Given the description of an element on the screen output the (x, y) to click on. 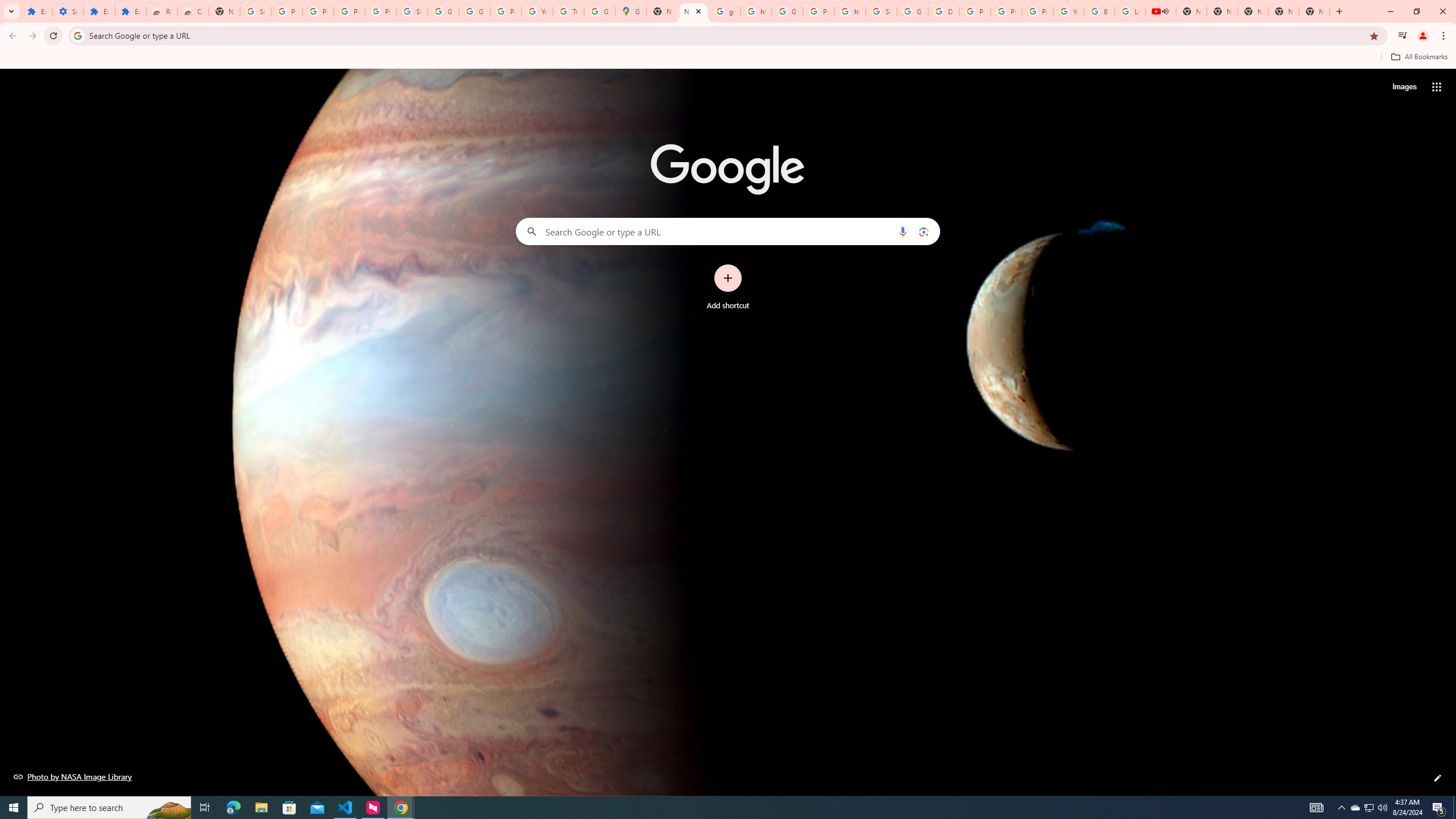
Search Google or type a URL (727, 230)
New Tab (693, 11)
Sign in - Google Accounts (411, 11)
Extensions (36, 11)
Reviews: Helix Fruit Jump Arcade Game (161, 11)
